Given the description of an element on the screen output the (x, y) to click on. 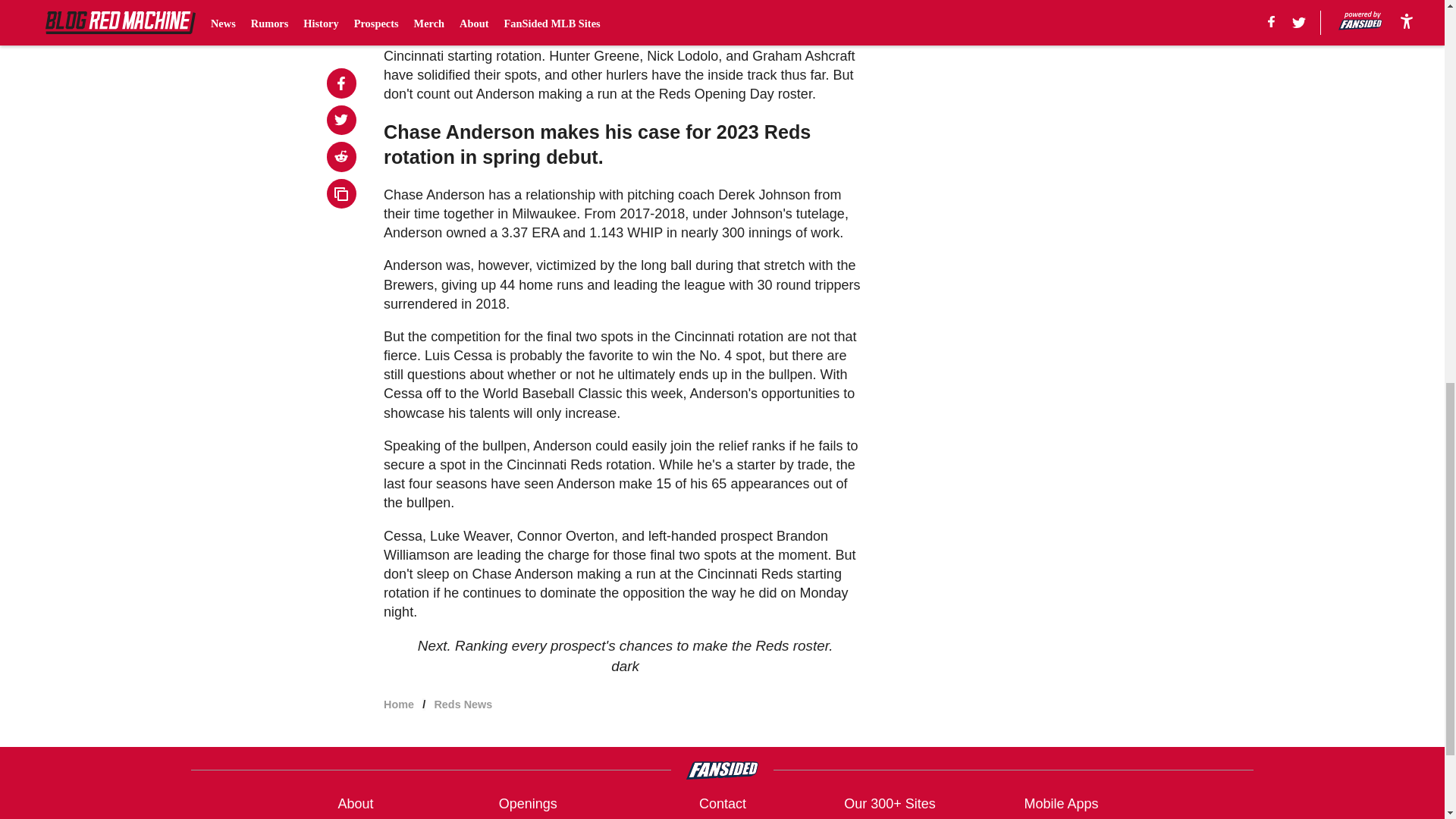
Home (398, 704)
Mobile Apps (1060, 803)
Openings (528, 803)
Contact (721, 803)
Reds News (462, 704)
About (354, 803)
